Given the description of an element on the screen output the (x, y) to click on. 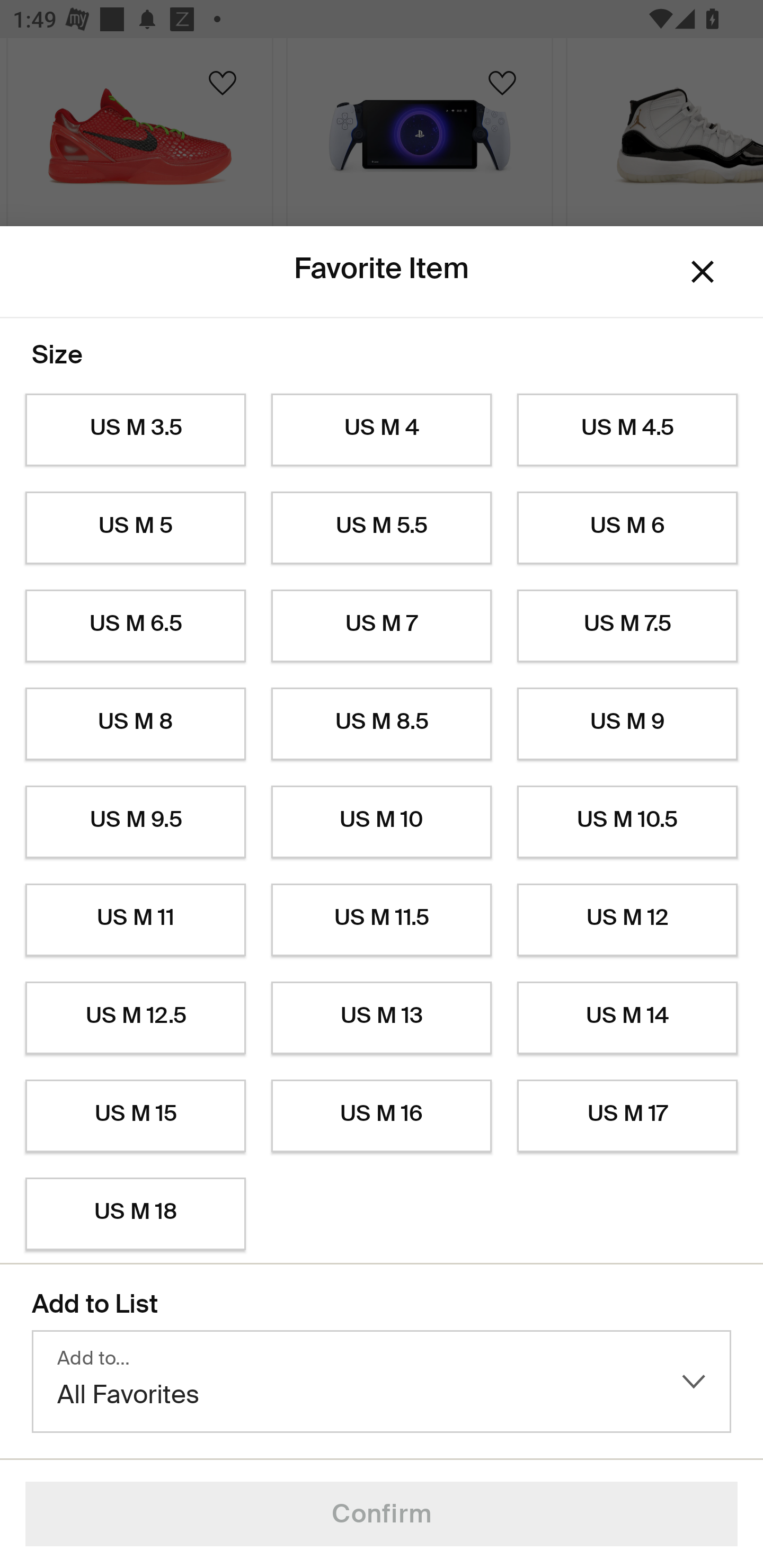
Dismiss (702, 271)
US M 3.5 (135, 430)
US M 4 (381, 430)
US M 4.5 (627, 430)
US M 5 (135, 527)
US M 5.5 (381, 527)
US M 6 (627, 527)
US M 6.5 (135, 626)
US M 7 (381, 626)
US M 7.5 (627, 626)
US M 8 (135, 724)
US M 8.5 (381, 724)
US M 9 (627, 724)
US M 9.5 (135, 822)
US M 10 (381, 822)
US M 10.5 (627, 822)
US M 11 (135, 919)
US M 11.5 (381, 919)
US M 12 (627, 919)
US M 12.5 (135, 1018)
US M 13 (381, 1018)
US M 14 (627, 1018)
US M 15 (135, 1116)
US M 16 (381, 1116)
US M 17 (627, 1116)
US M 18 (135, 1214)
Add to… All Favorites (381, 1381)
Confirm (381, 1513)
